Given the description of an element on the screen output the (x, y) to click on. 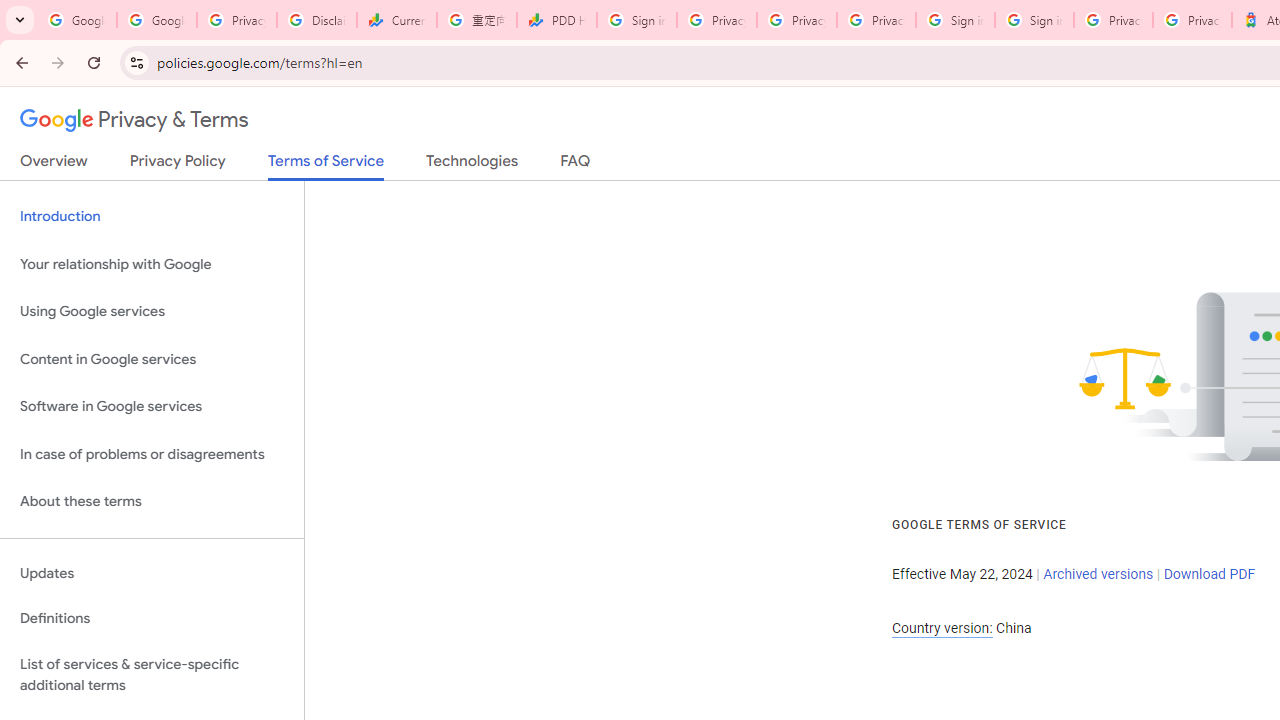
Technologies (472, 165)
Introduction (152, 216)
List of services & service-specific additional terms (152, 674)
In case of problems or disagreements (152, 453)
Updates (152, 573)
Sign in - Google Accounts (955, 20)
About these terms (152, 502)
Privacy Checkup (876, 20)
